Given the description of an element on the screen output the (x, y) to click on. 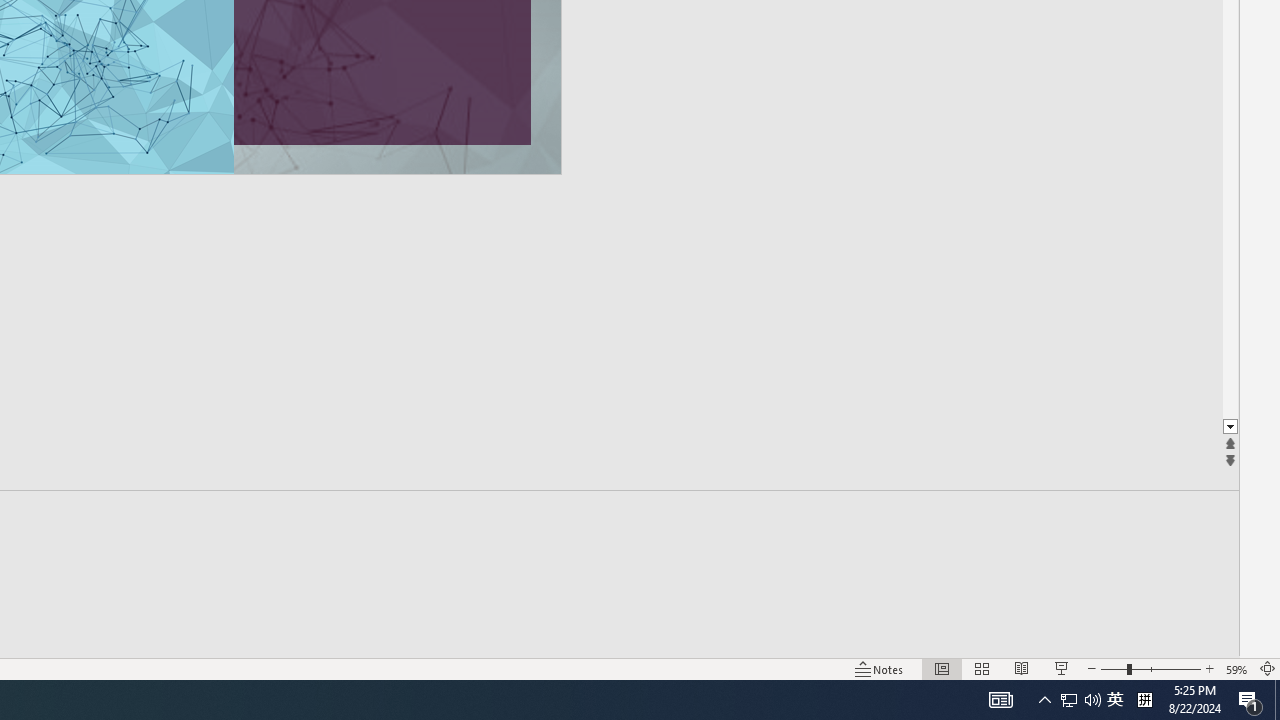
Zoom 59% (1236, 668)
